Given the description of an element on the screen output the (x, y) to click on. 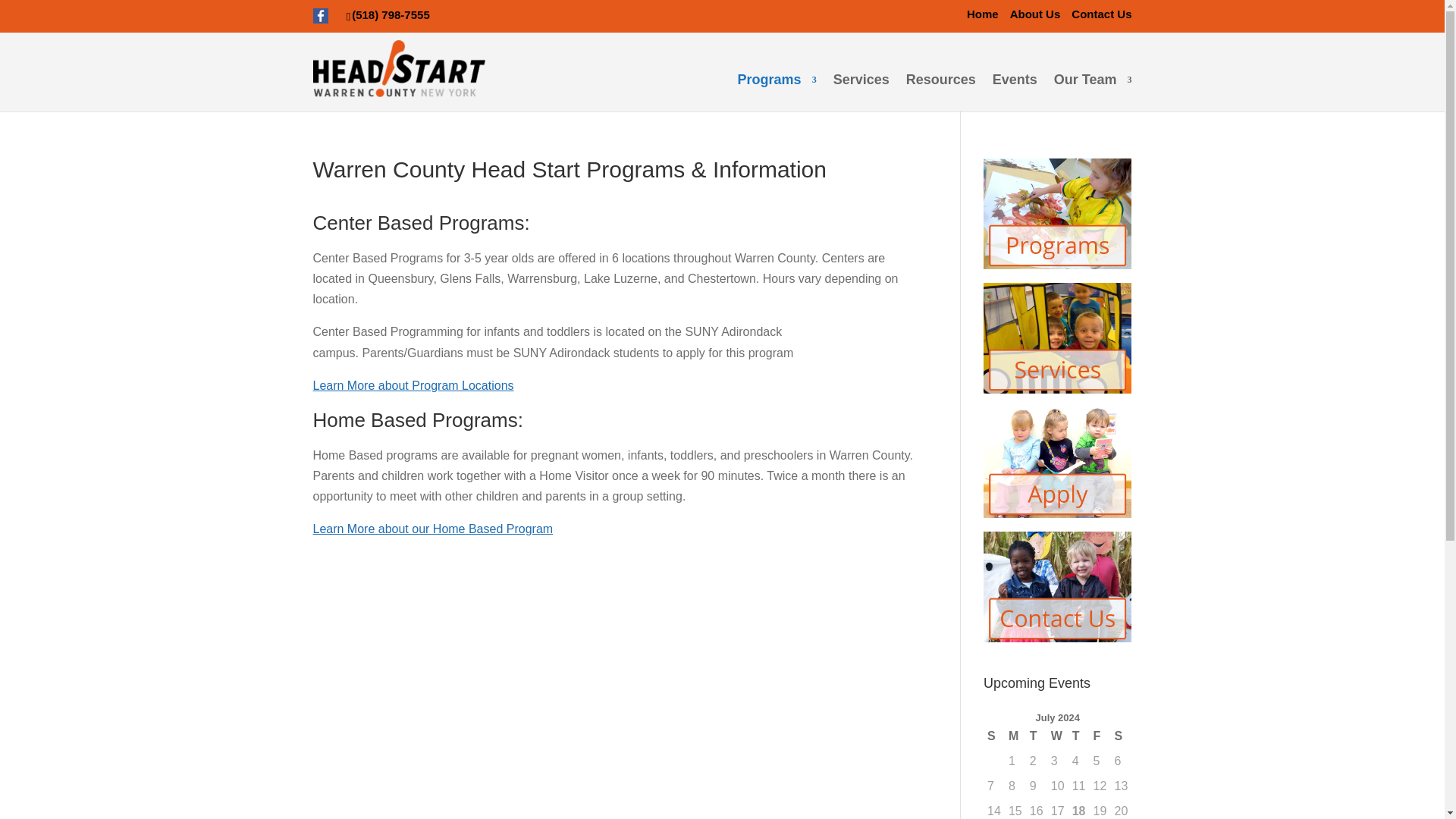
Contact Us (1101, 13)
Tuesday (1036, 735)
About Us (1035, 13)
Wednesday (1057, 735)
Learn More about Program Locations (413, 385)
Saturday (1120, 735)
Programs (777, 91)
Thursday (1078, 735)
Our Team (1093, 91)
Resources (940, 91)
Learn More about our Home Based Program (433, 528)
Monday (1015, 735)
Follow us on facebook (329, 14)
Home (982, 13)
